Given the description of an element on the screen output the (x, y) to click on. 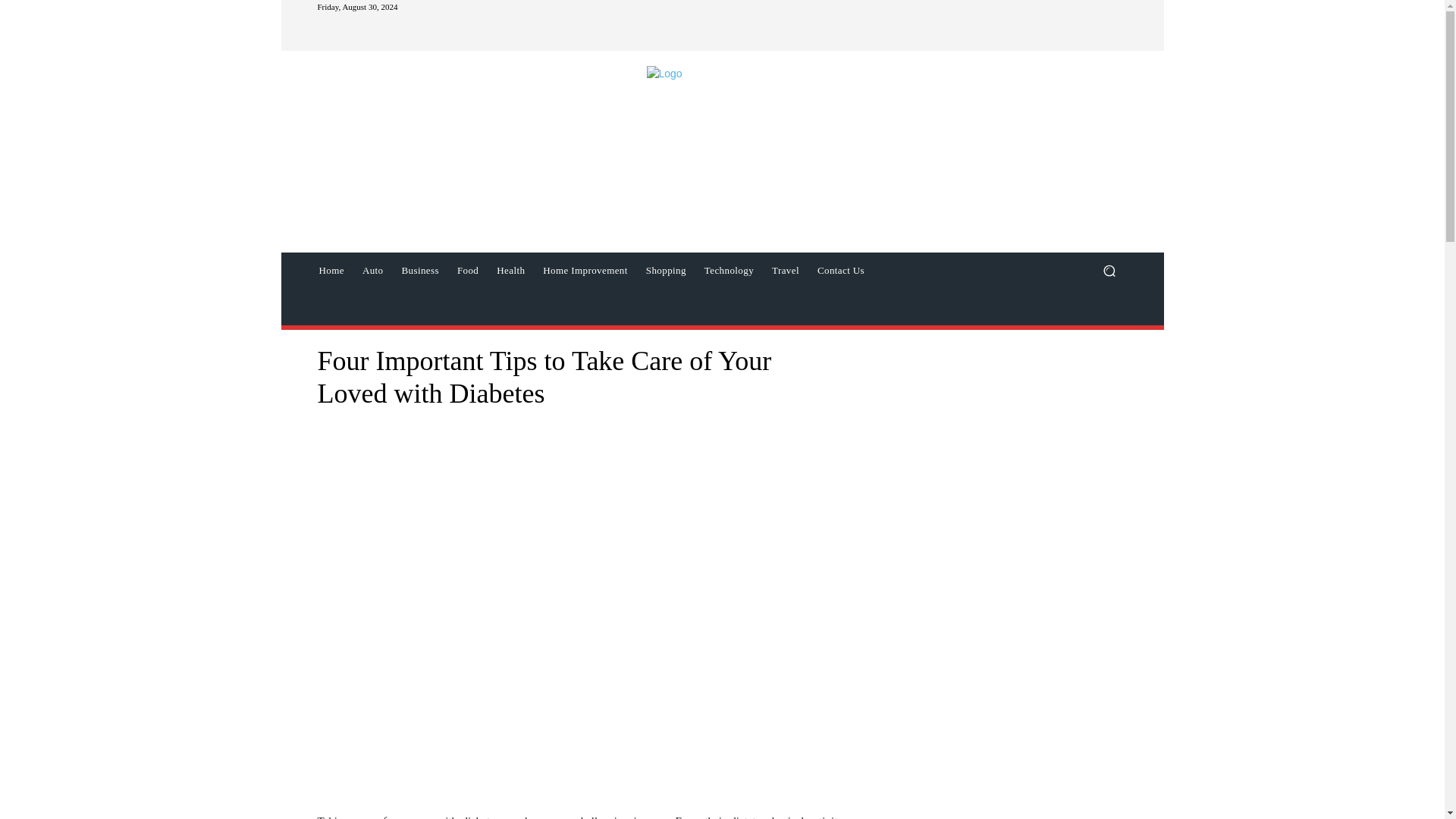
Auto (373, 270)
Technology (728, 270)
Health (510, 270)
Contact Us (840, 270)
Travel (785, 270)
Home Improvement (585, 270)
Food (467, 270)
Shopping (666, 270)
Home (330, 270)
Business (418, 270)
